Given the description of an element on the screen output the (x, y) to click on. 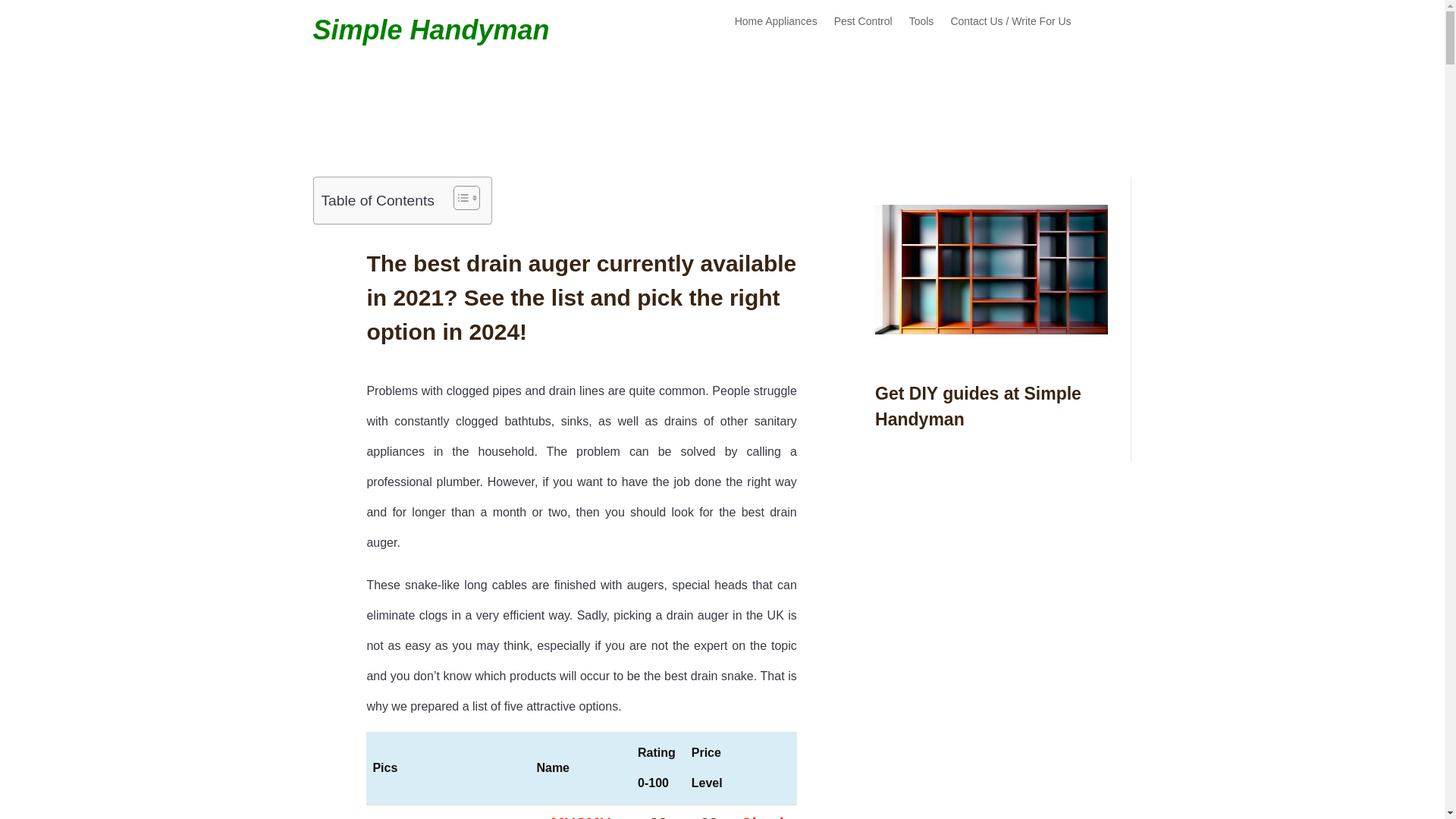
Pest Control (863, 23)
Check Price (764, 815)
MUSMU 12in1 (580, 815)
Home Appliances (775, 23)
Posts by Mike Jacobs (362, 141)
Hand Tools (516, 141)
Tools (921, 23)
Mike Jacobs (362, 141)
